Given the description of an element on the screen output the (x, y) to click on. 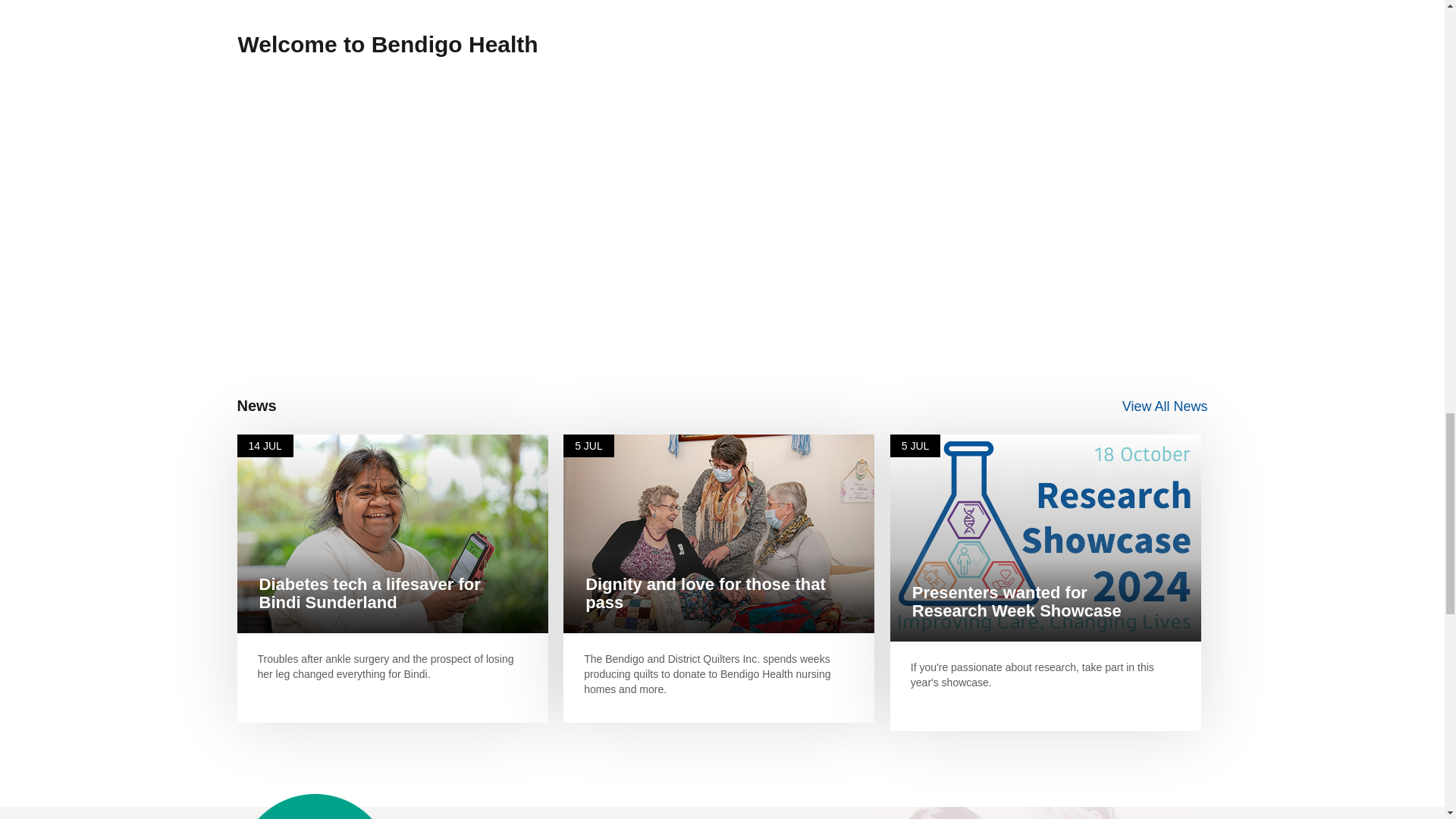
YouTube video player (448, 196)
Presenters wanted for Research Week Showcase (1016, 601)
View All News (1165, 406)
Dignity and love for those that pass (705, 592)
Diabetes tech a lifesaver for Bindi Sunderland (369, 592)
